Given the description of an element on the screen output the (x, y) to click on. 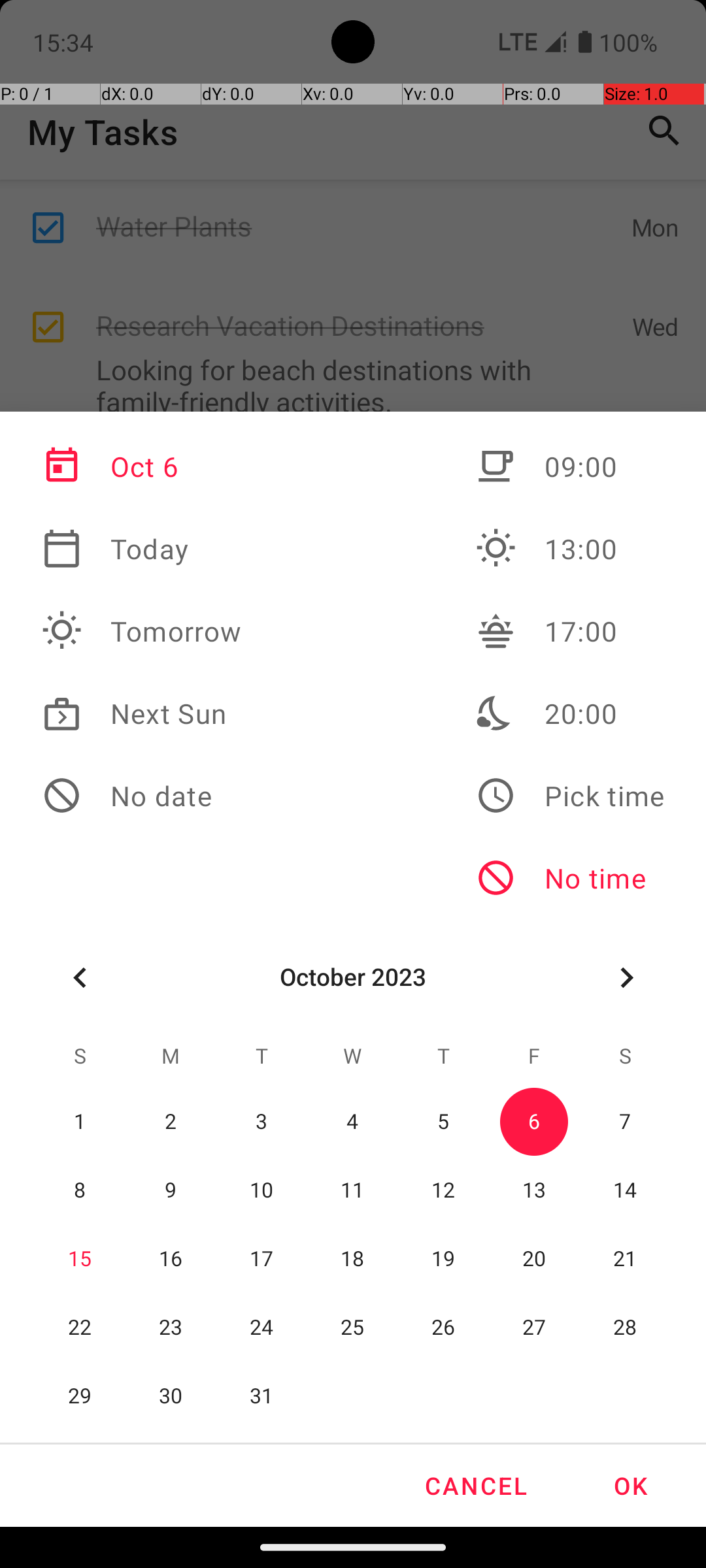
Oct 6 Element type: android.widget.CompoundButton (141, 466)
